Given the description of an element on the screen output the (x, y) to click on. 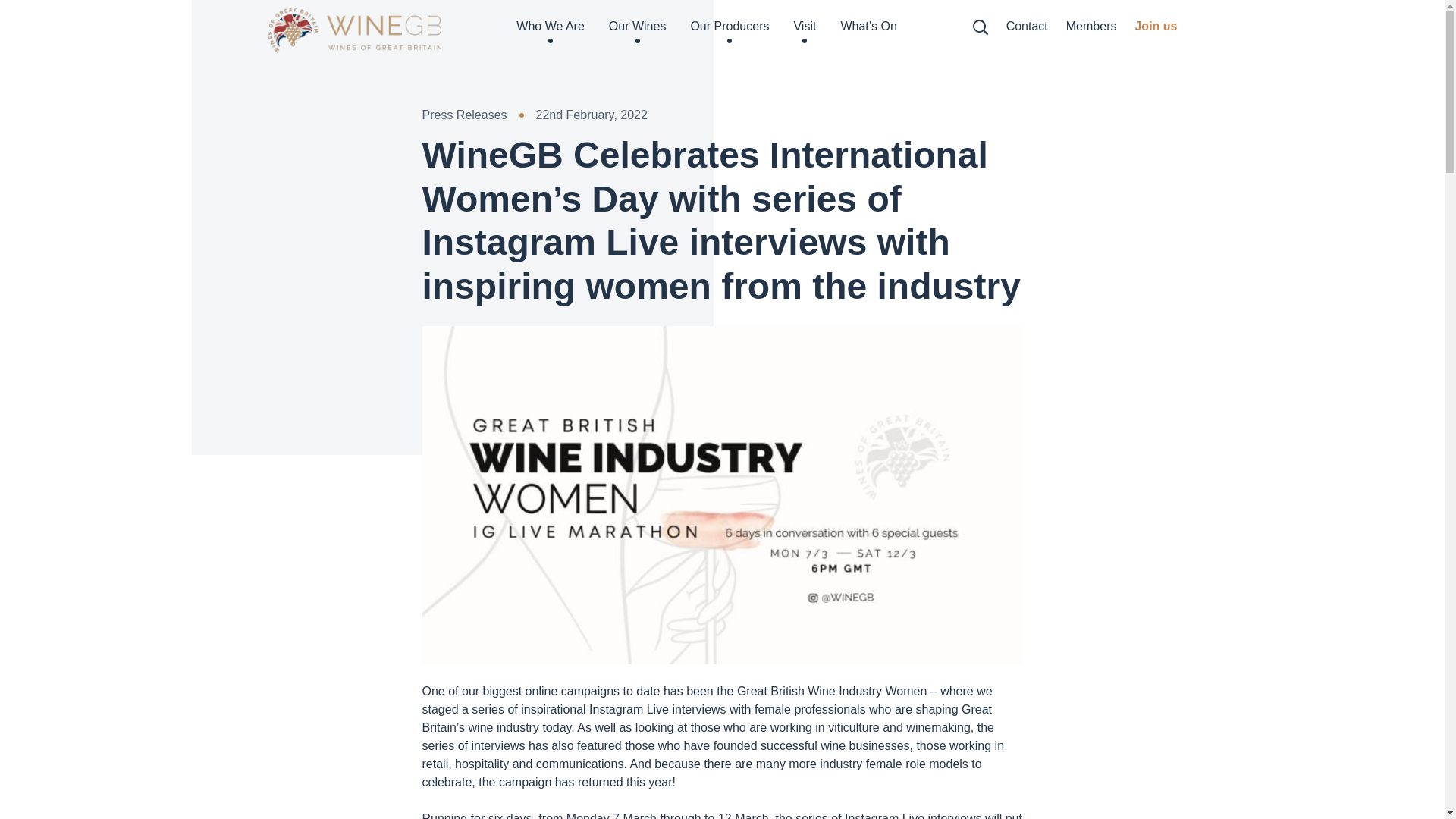
WineGB (353, 30)
Who We Are (550, 30)
Join us (1155, 30)
Our Wines (637, 30)
Press Releases (464, 115)
Members (1090, 30)
Visit (804, 30)
Our Producers (729, 30)
Contact (1027, 30)
